Given the description of an element on the screen output the (x, y) to click on. 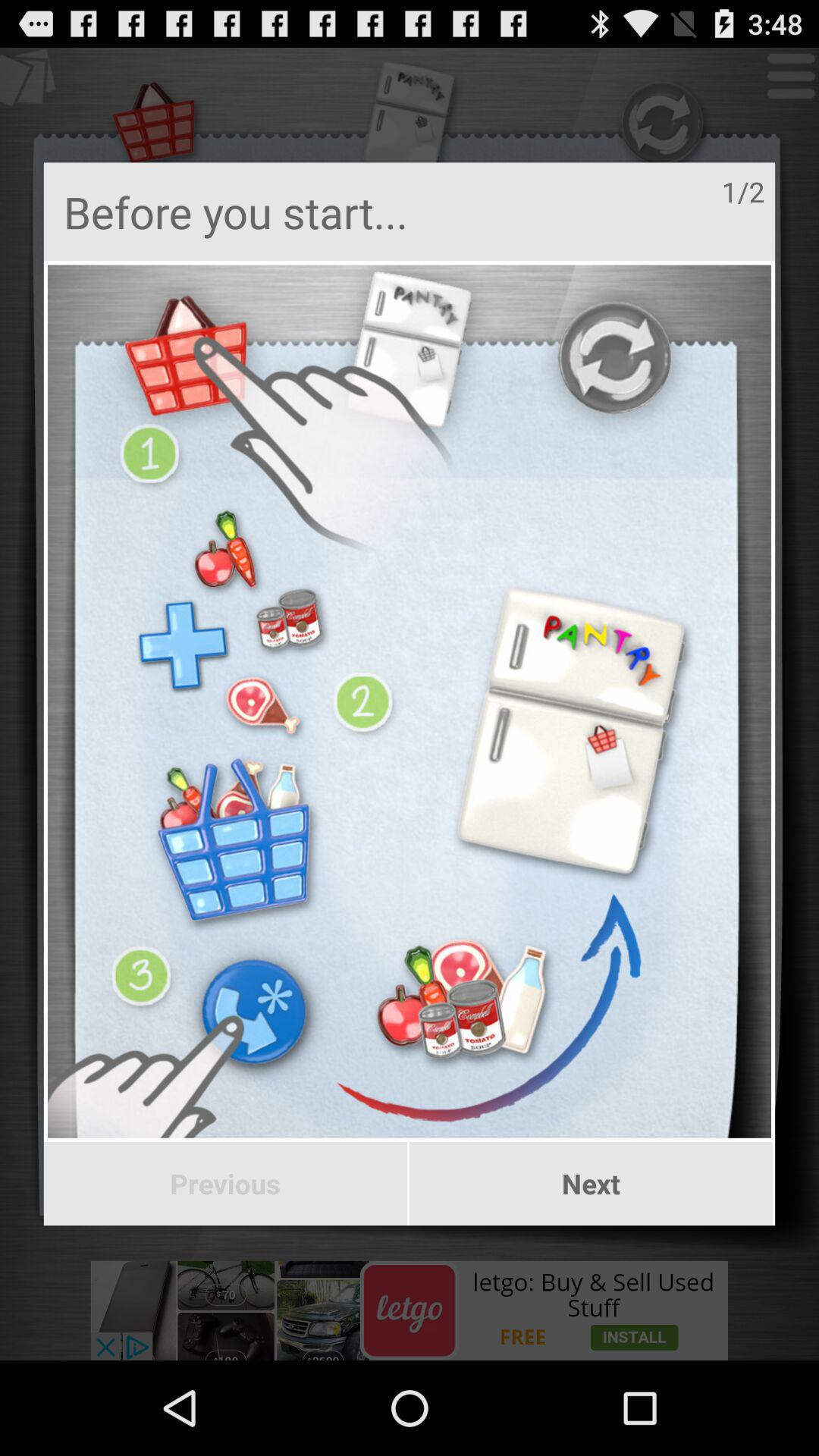
swipe to next button (590, 1183)
